Given the description of an element on the screen output the (x, y) to click on. 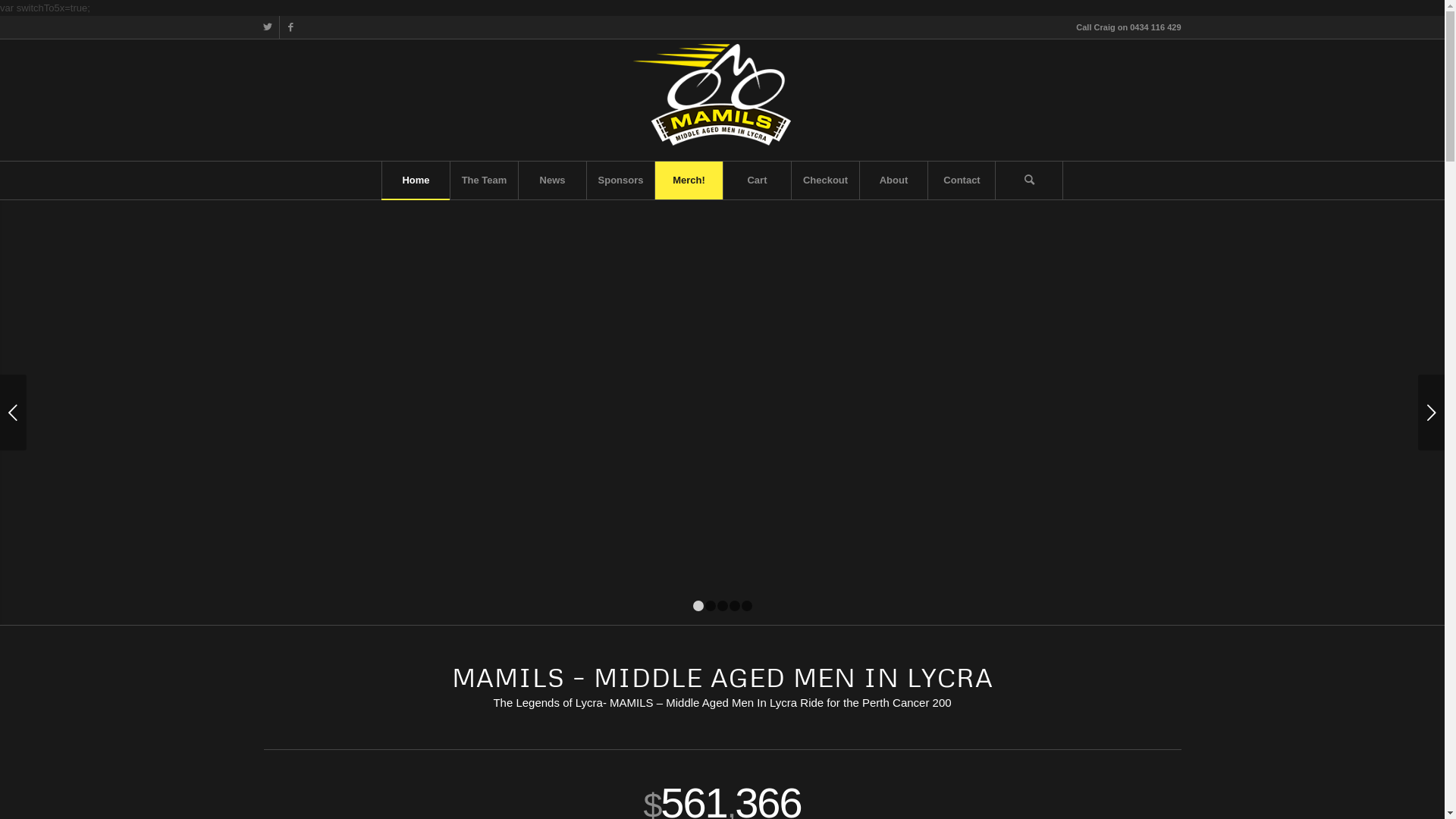
2 Element type: text (710, 605)
Previous Element type: text (13, 412)
Sponsors Element type: text (620, 180)
News Element type: text (551, 180)
The Team Element type: text (483, 180)
Contact Element type: text (961, 180)
Checkout Element type: text (824, 180)
1 Element type: text (698, 605)
Home Element type: text (415, 180)
About Element type: text (893, 180)
4 Element type: text (734, 605)
Next Element type: text (1431, 412)
5 Element type: text (746, 605)
Twitter Element type: hover (267, 26)
Merch! Element type: text (688, 180)
3 Element type: text (722, 605)
Cart Element type: text (756, 180)
Facebook Element type: hover (290, 26)
